Given the description of an element on the screen output the (x, y) to click on. 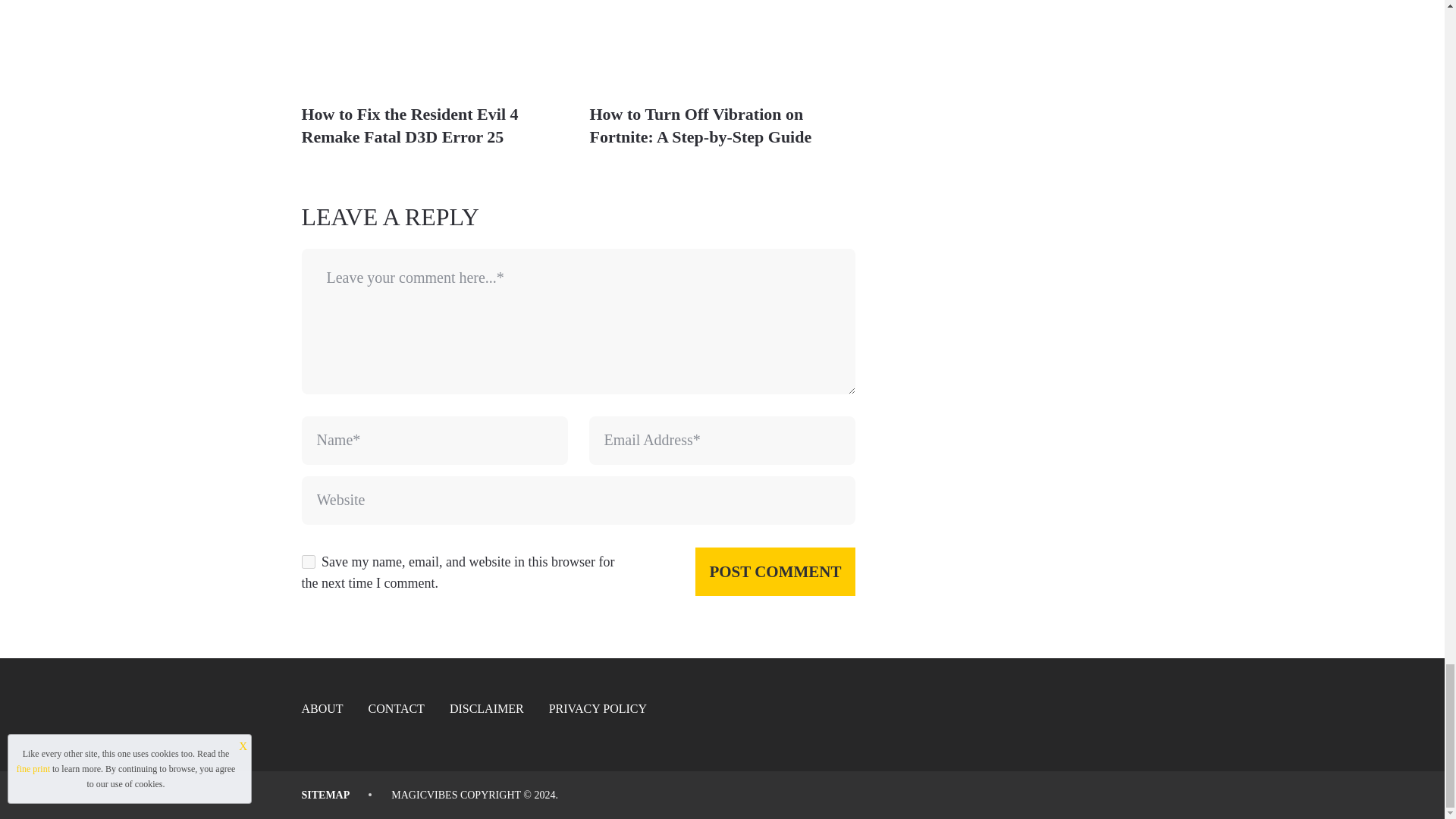
How to Fix the Resident Evil 4 Remake Fatal D3D Error 25 (434, 45)
Post Comment (774, 571)
Post Comment (774, 571)
How to Fix the Resident Evil 4 Remake Fatal D3D Error 25 (409, 125)
How to Turn Off Vibration on Fortnite: A Step-by-Step Guide (700, 125)
ABOUT (322, 707)
SITEMAP (325, 794)
How to Fix the Resident Evil 4 Remake Fatal D3D Error 25 (409, 125)
DISCLAIMER (486, 707)
CONTACT (396, 707)
PRIVACY POLICY (597, 707)
How to Turn Off Vibration on Fortnite: A Step-by-Step Guide (722, 45)
MAGICVIBES (424, 794)
How to Turn Off Vibration on Fortnite: A Step-by-Step Guide (700, 125)
yes (308, 561)
